Given the description of an element on the screen output the (x, y) to click on. 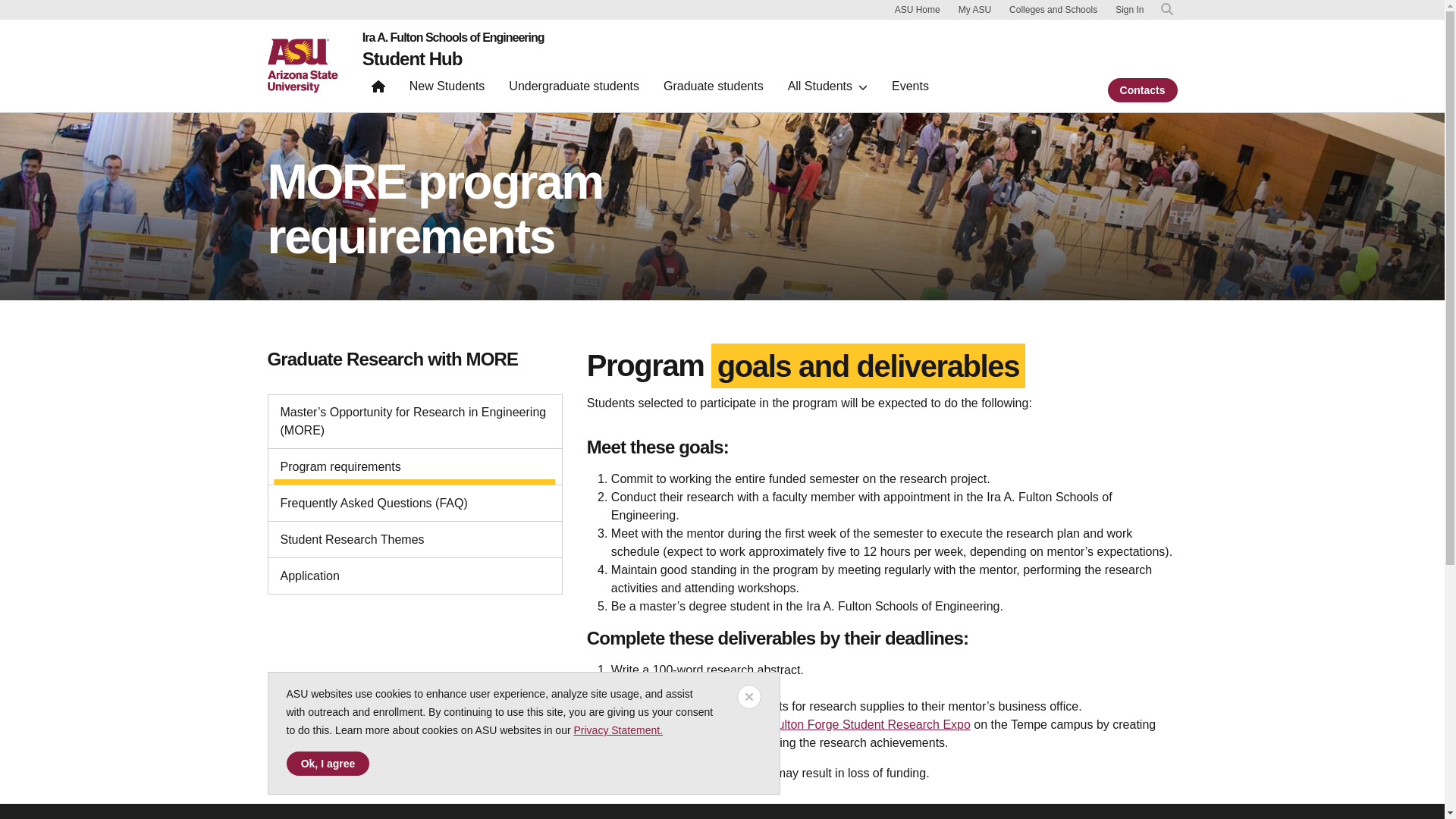
Graduate students (713, 89)
ASU Home (917, 9)
Ira A. Fulton Schools of Engineering home page (453, 37)
New Students (447, 89)
Ira A. Fulton Schools of Engineering (453, 37)
ASU home page (301, 65)
Student Hub home page (412, 58)
Colleges and Schools (1053, 9)
Application (415, 576)
Undergraduate students (573, 89)
Events (909, 89)
My ASU (974, 9)
Student Research Themes (415, 539)
Student Hub (412, 58)
